Given the description of an element on the screen output the (x, y) to click on. 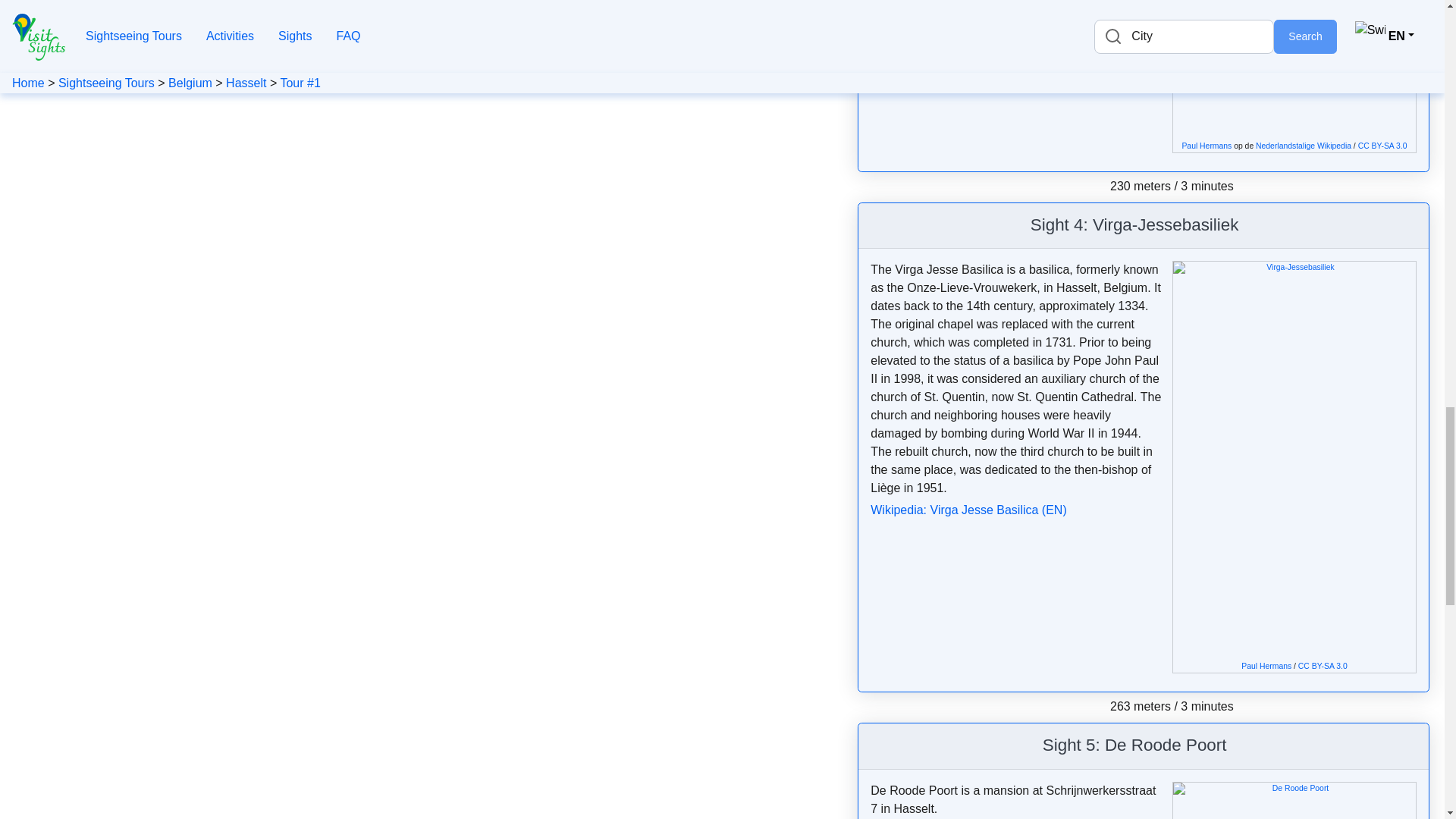
w:nl:User:Paul Hermans (1205, 145)
Nederlandstalige Wikipedia (1303, 145)
User:Paul Hermans (1266, 665)
Show sight on map (1234, 747)
Paul Hermans (1205, 145)
w:nl: (1303, 145)
Show sight on map (1247, 226)
CC BY-SA 3.0 (1382, 145)
